Given the description of an element on the screen output the (x, y) to click on. 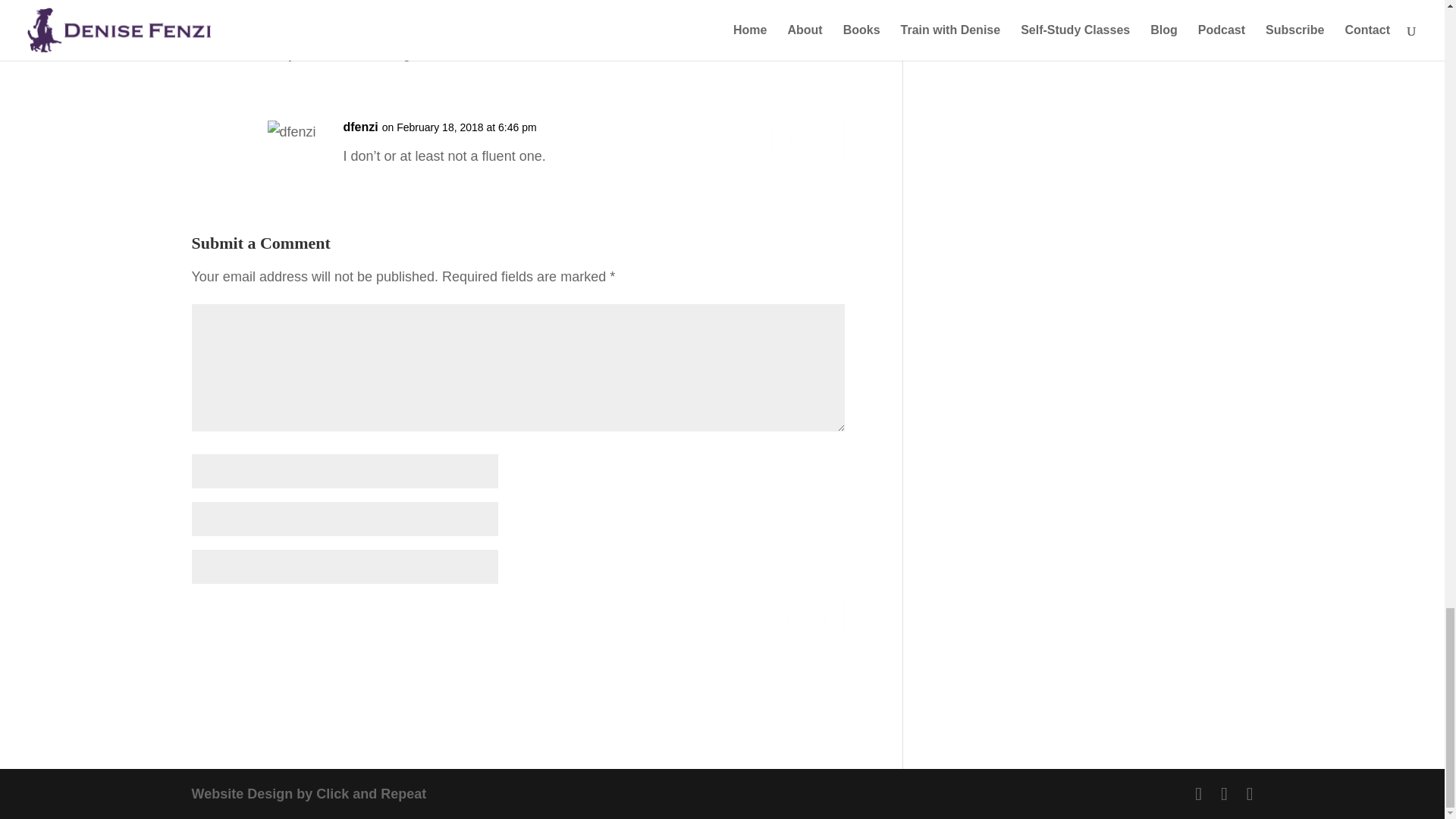
dfenzi (359, 127)
Submit Comment (769, 616)
Submit Comment (769, 616)
Reply (807, 37)
Reply (807, 139)
